Given the description of an element on the screen output the (x, y) to click on. 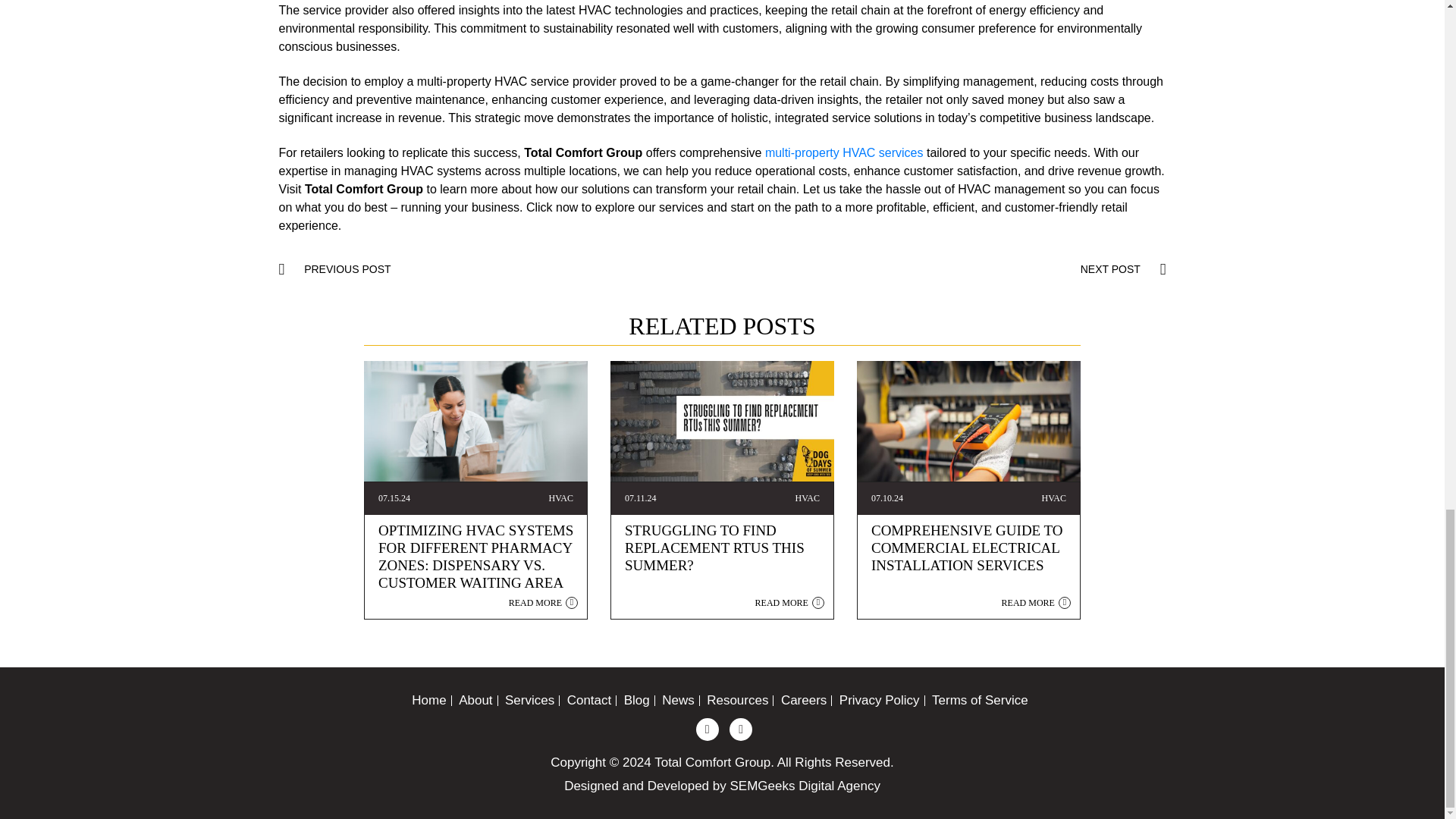
READ MORE (786, 603)
STRUGGLING TO FIND REPLACEMENT RTUS THIS SUMMER? (714, 547)
READ MORE (540, 603)
multi-property HVAC services (844, 152)
